Given the description of an element on the screen output the (x, y) to click on. 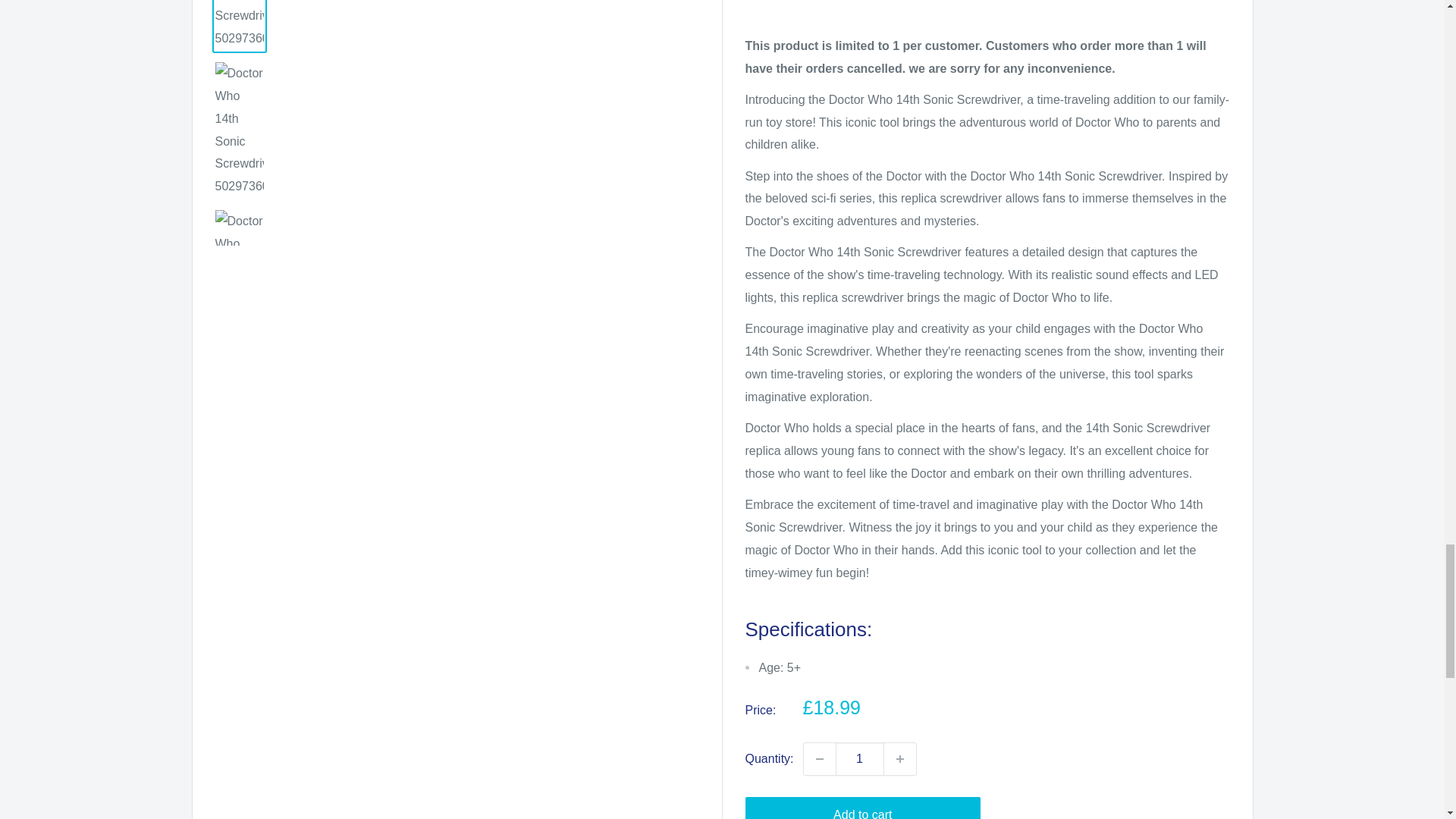
1 (859, 758)
Increase quantity by 1 (899, 758)
Decrease quantity by 1 (819, 758)
